Given the description of an element on the screen output the (x, y) to click on. 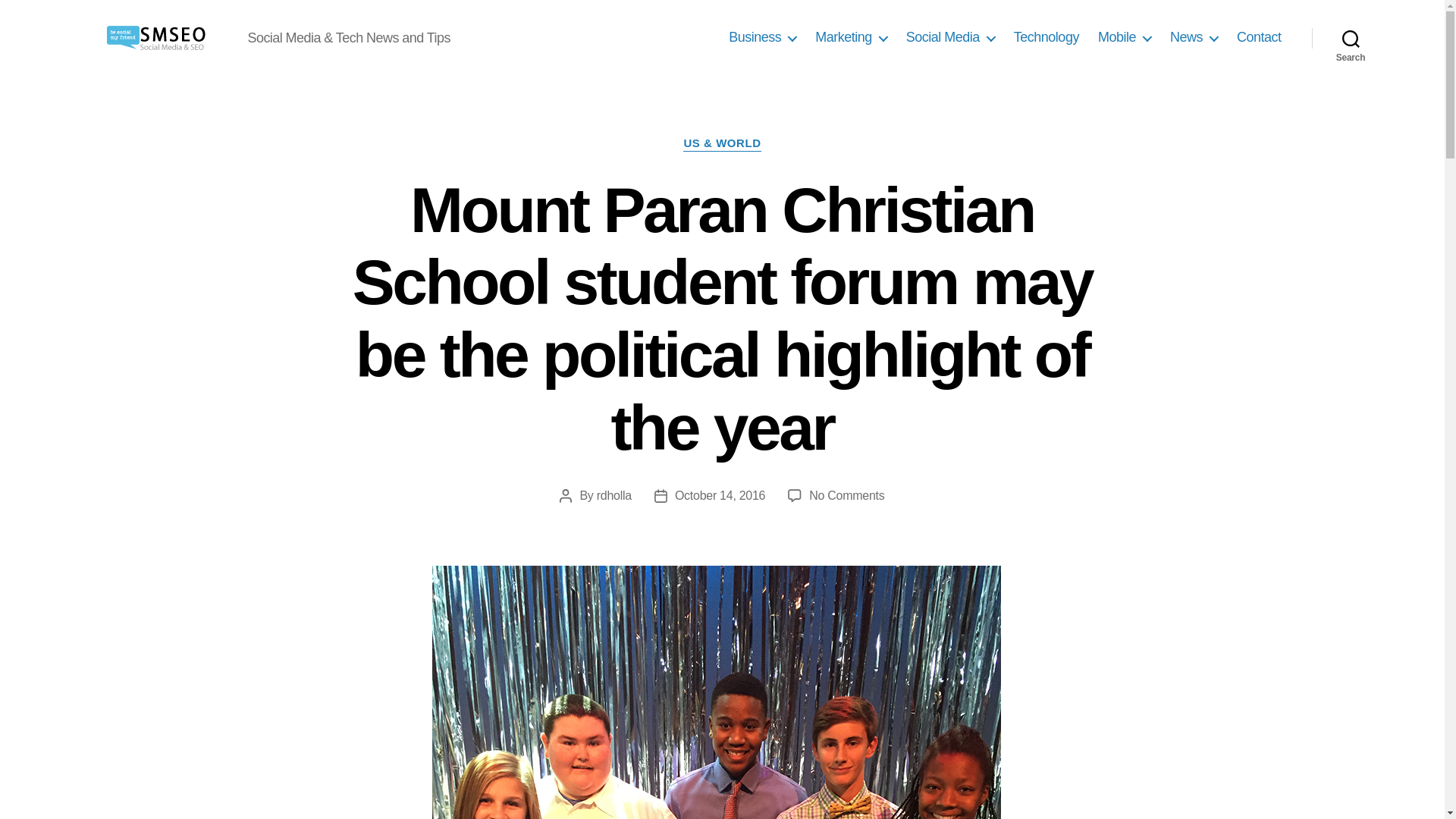
Search (1350, 37)
Marketing (850, 37)
Technology (1045, 37)
Mobile (1124, 37)
Business (762, 37)
Contact (1258, 37)
News (1193, 37)
Social Media (949, 37)
